Given the description of an element on the screen output the (x, y) to click on. 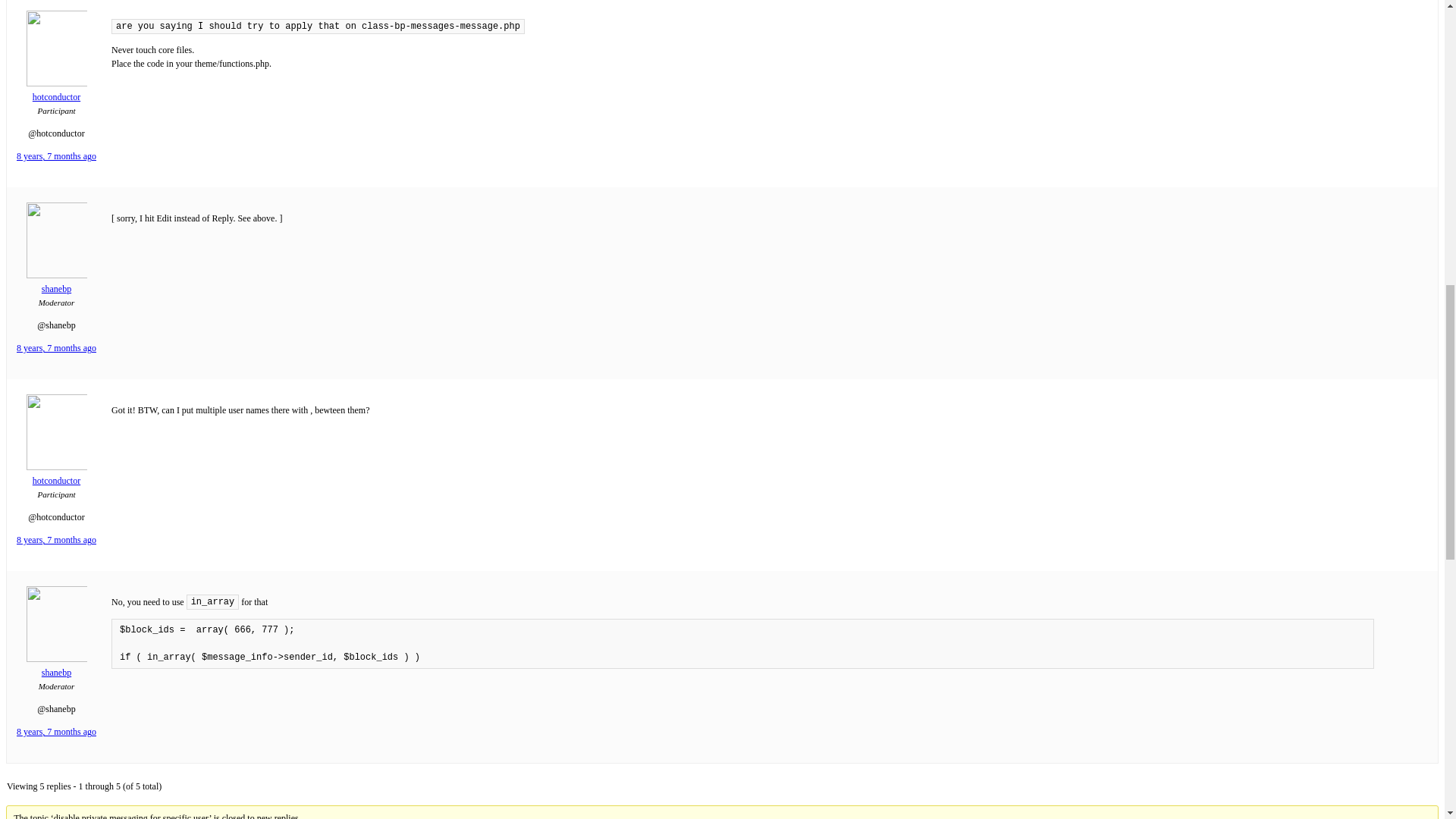
8 years, 7 months ago (56, 155)
8 years, 7 months ago (56, 539)
shanebp (56, 666)
shanebp (56, 282)
8 years, 7 months ago (56, 347)
hotconductor (56, 474)
hotconductor (56, 90)
8 years, 7 months ago (56, 731)
